Given the description of an element on the screen output the (x, y) to click on. 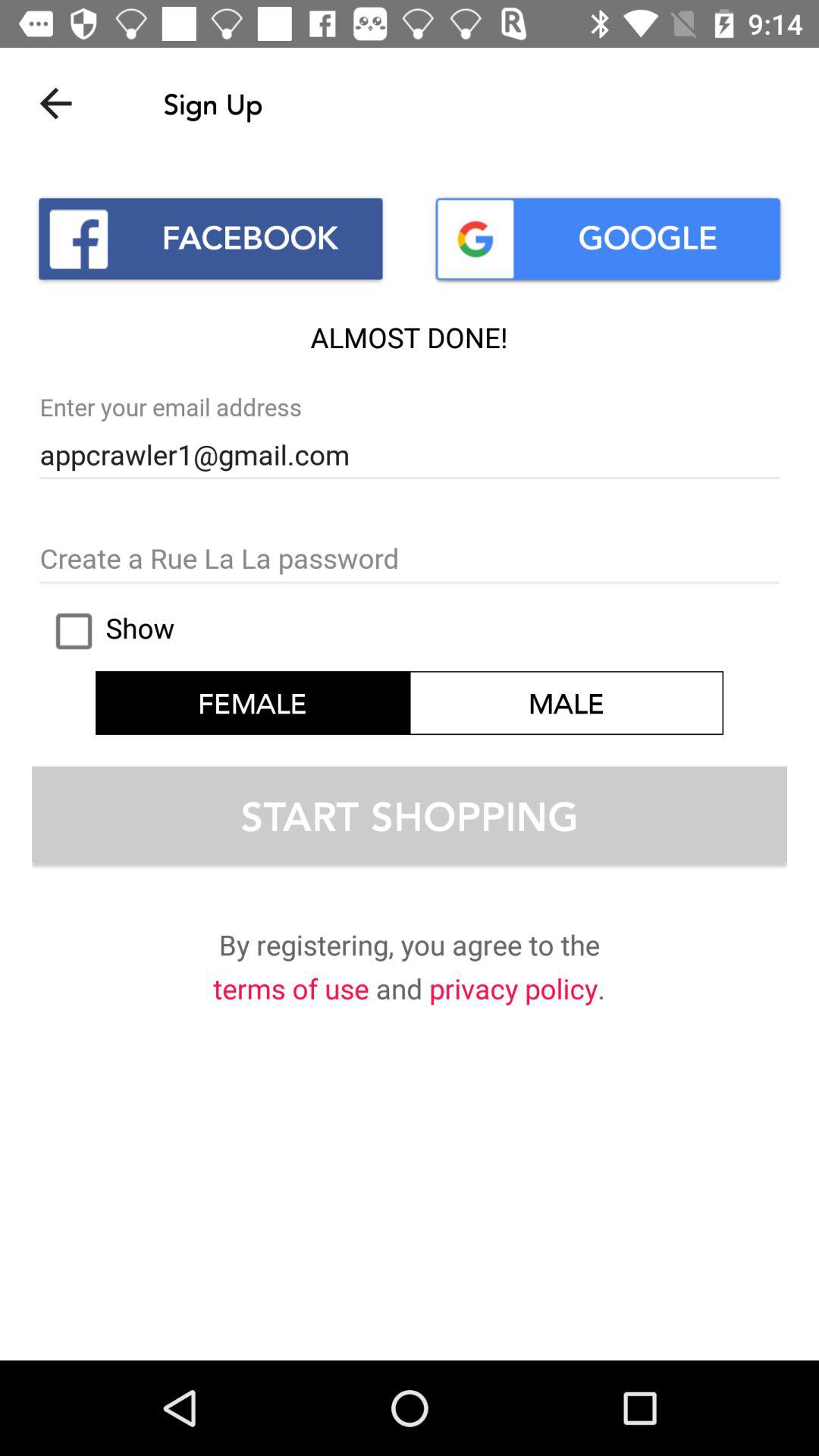
advertisement page (409, 559)
